Given the description of an element on the screen output the (x, y) to click on. 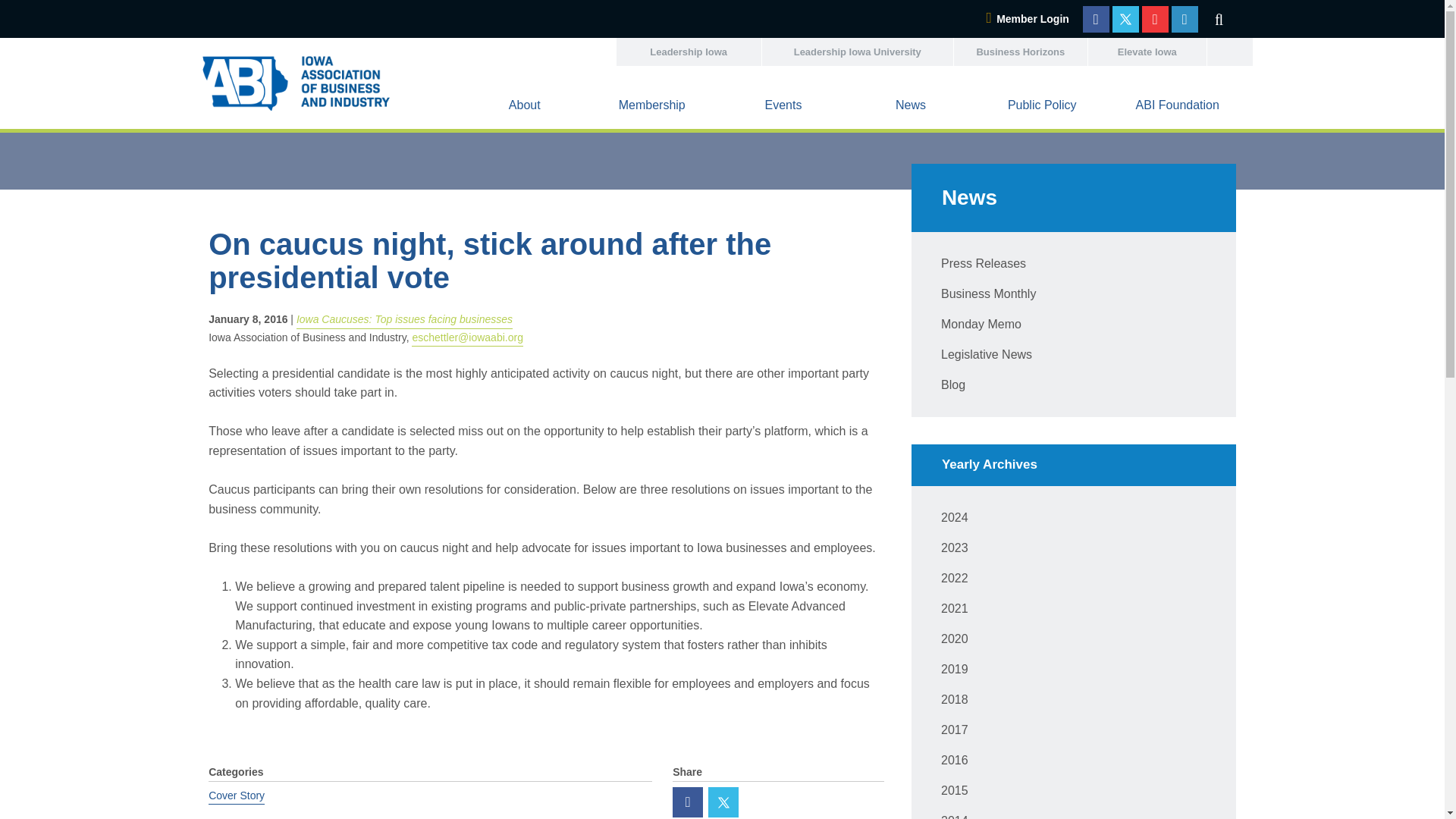
Elevate Iowa (1147, 51)
Membership (651, 107)
Business Horizons (1020, 51)
Member Login (1026, 19)
About ABI (524, 107)
Events (783, 107)
Member login (1026, 19)
Leadership Iowa (687, 51)
Membership (651, 107)
Leadership Iowa (687, 51)
